Given the description of an element on the screen output the (x, y) to click on. 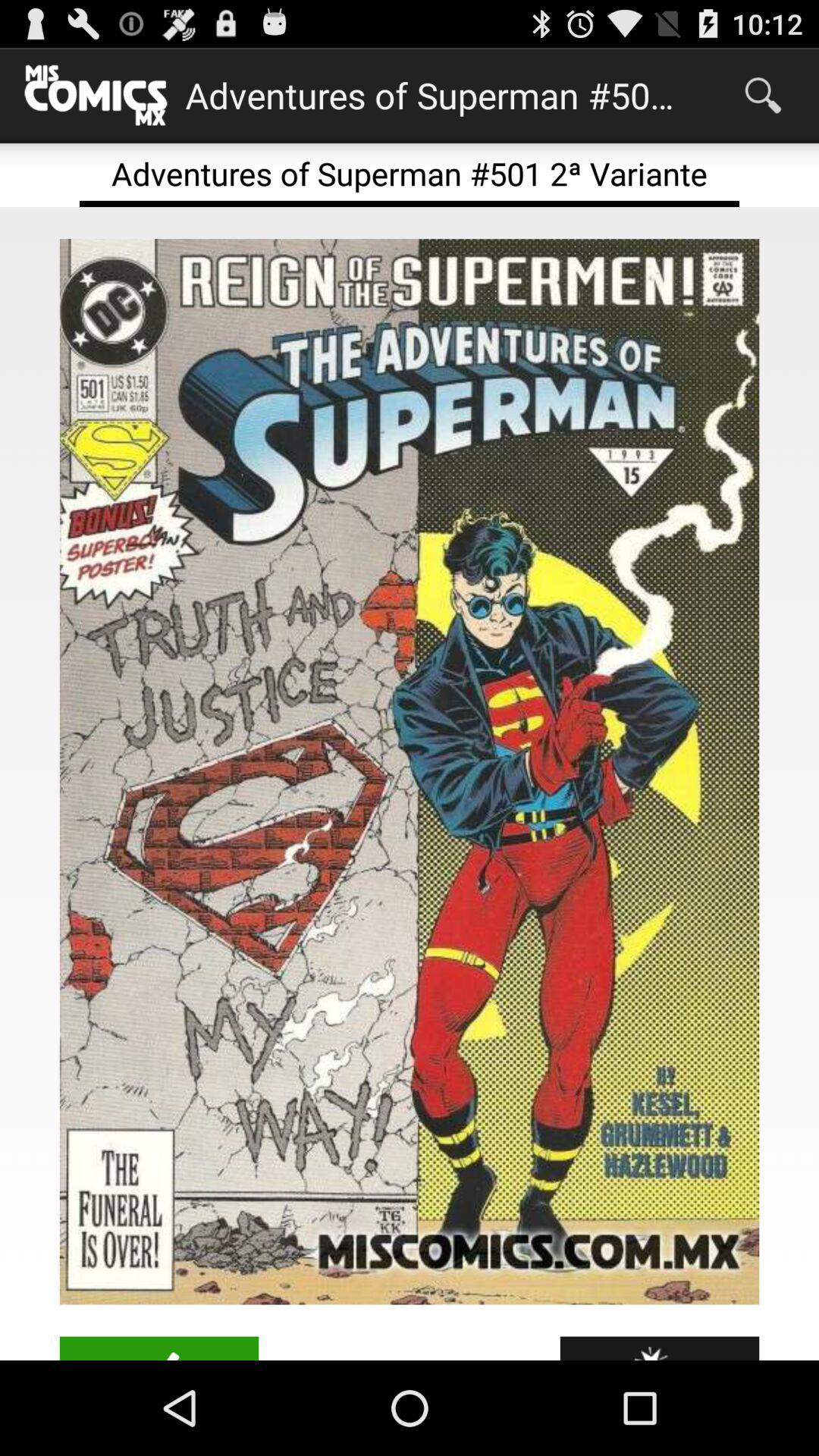
go select option (158, 1348)
